Given the description of an element on the screen output the (x, y) to click on. 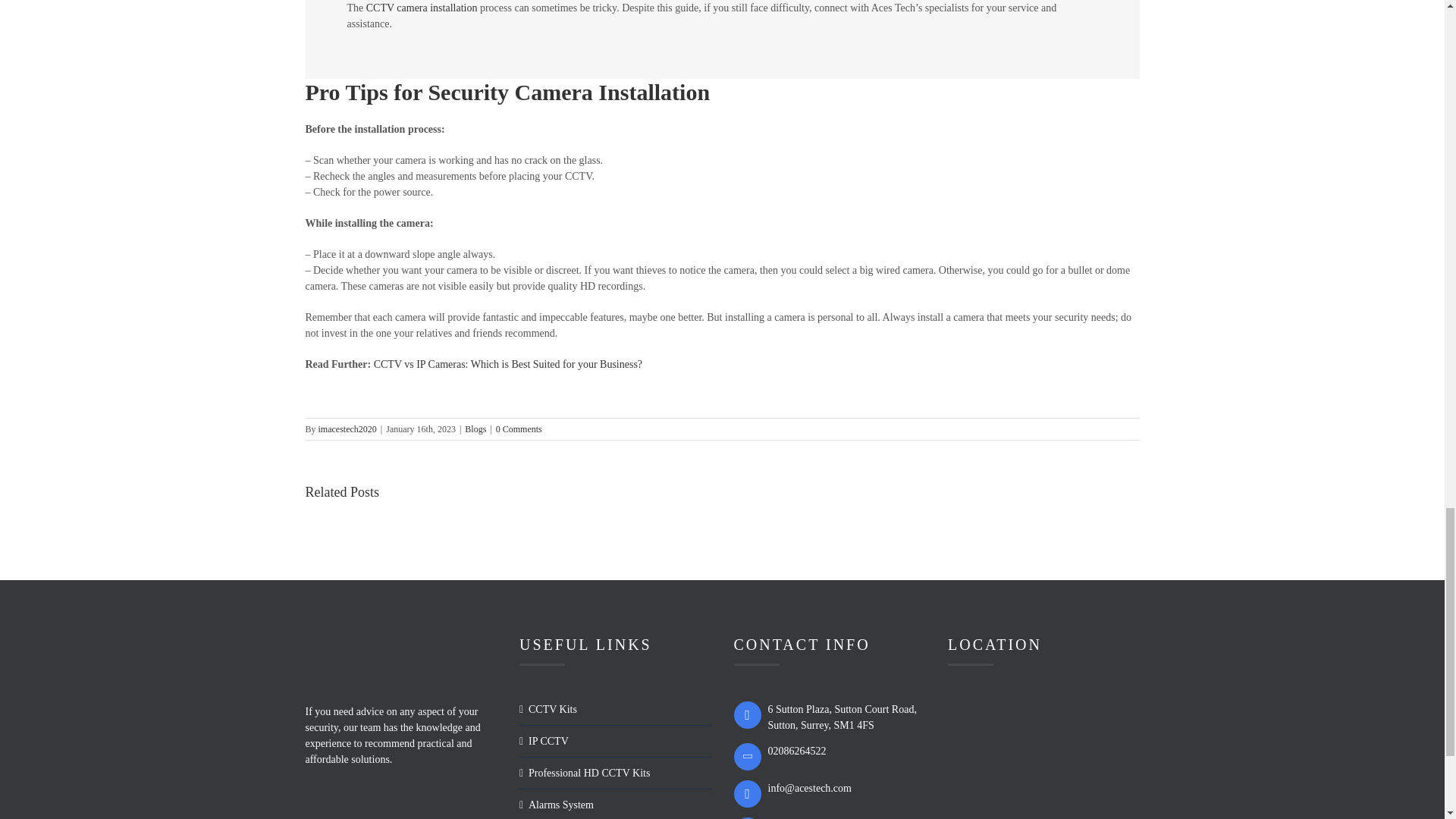
Posts by imacestech2020 (347, 429)
